Given the description of an element on the screen output the (x, y) to click on. 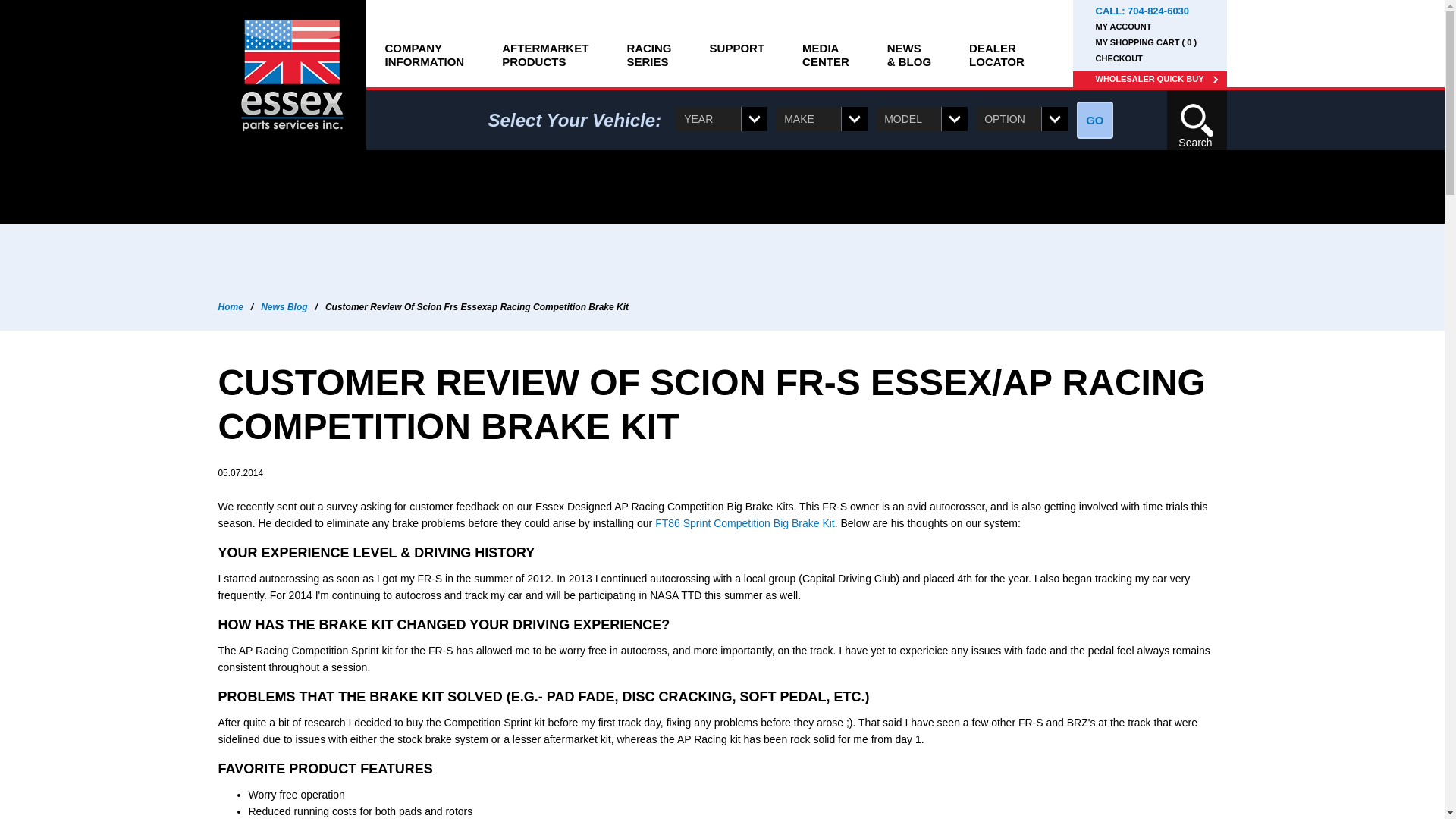
SUPPORT (825, 43)
704-824-6030 (737, 43)
CHECKOUT (1157, 10)
WHOLESALER QUICK BUY (424, 43)
MY ACCOUNT (648, 43)
